Given the description of an element on the screen output the (x, y) to click on. 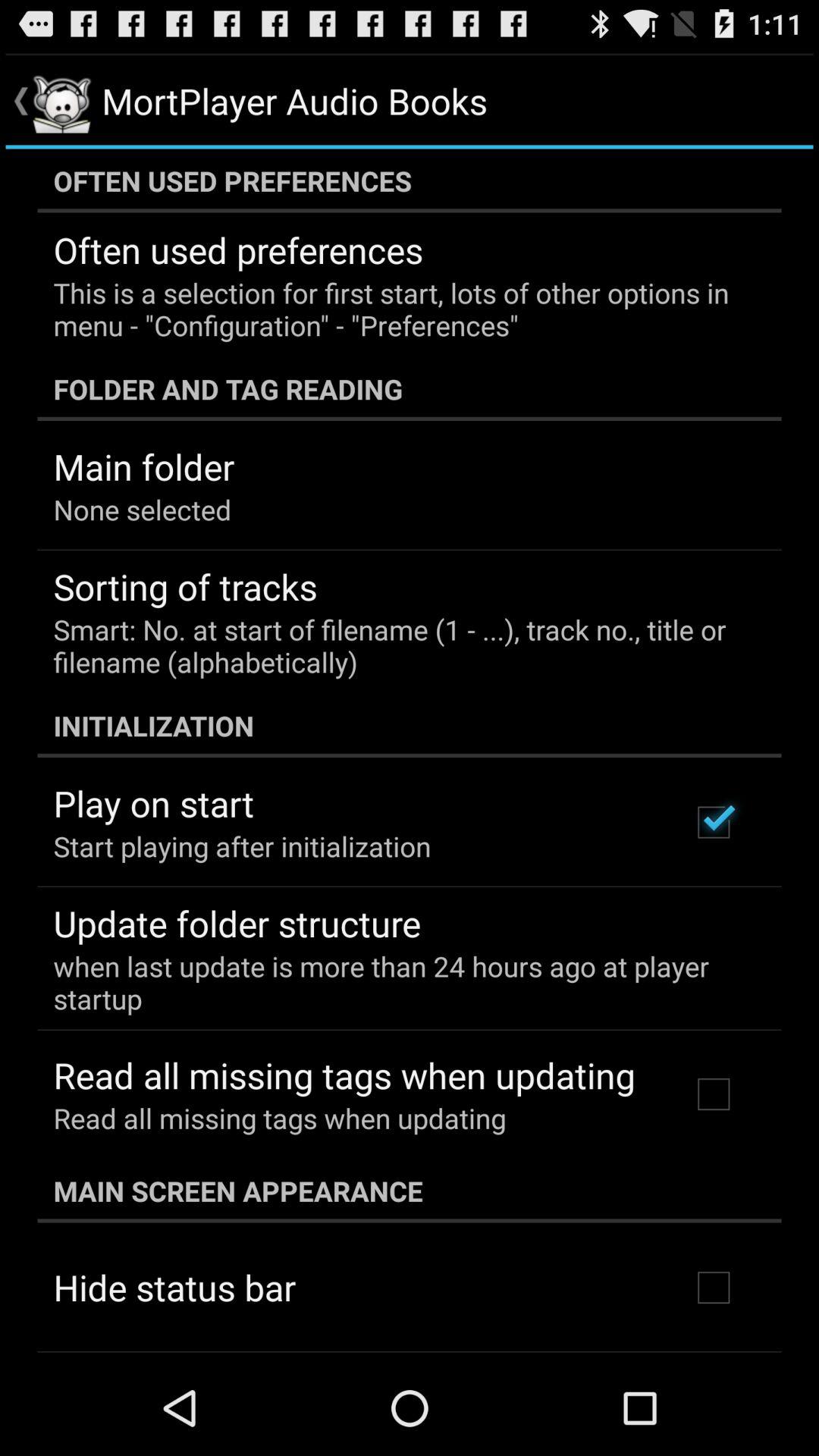
scroll until when last update item (399, 982)
